Given the description of an element on the screen output the (x, y) to click on. 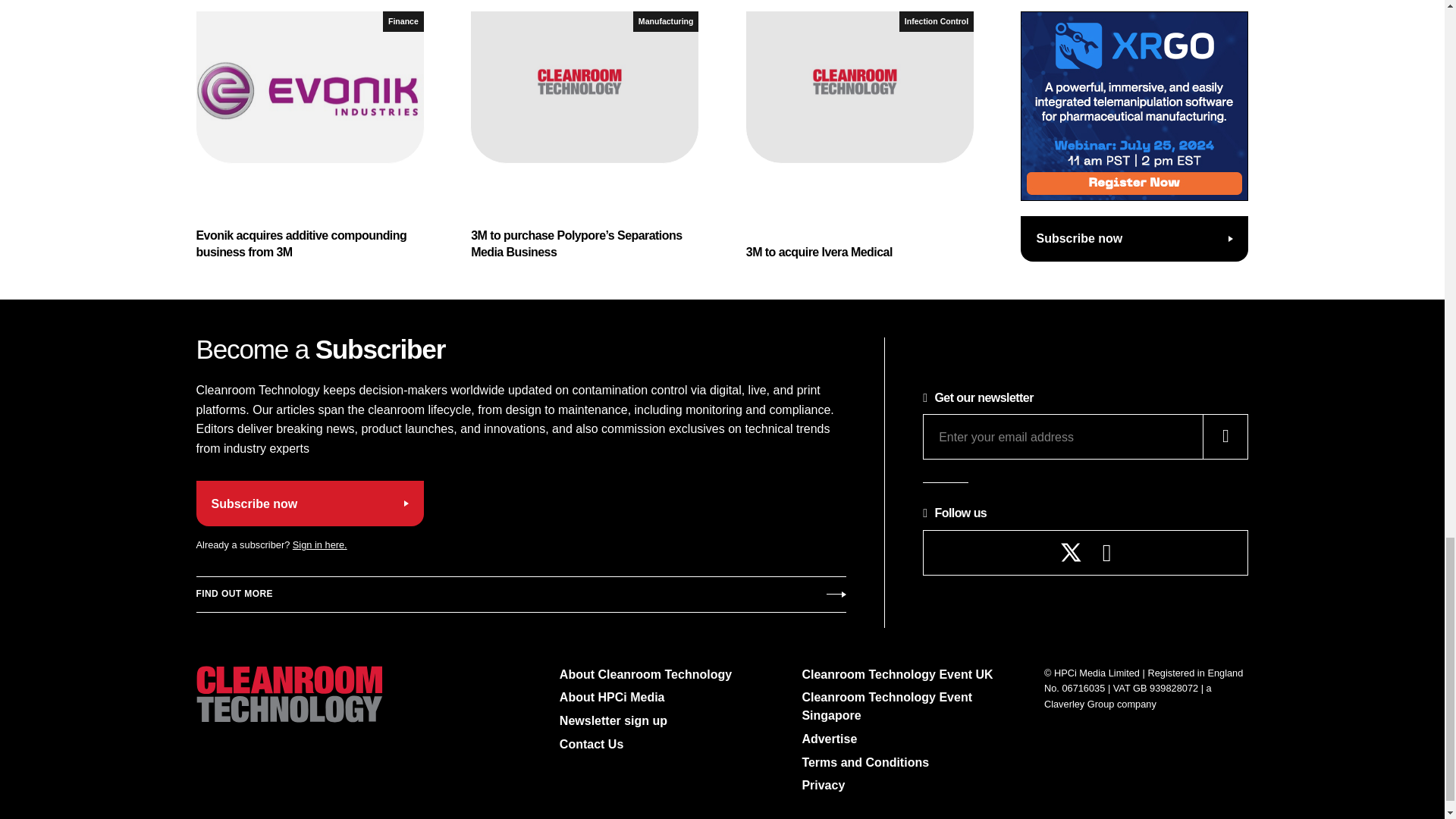
Subscribe (520, 594)
Follow Cleanroom Technology on X (1070, 552)
